Given the description of an element on the screen output the (x, y) to click on. 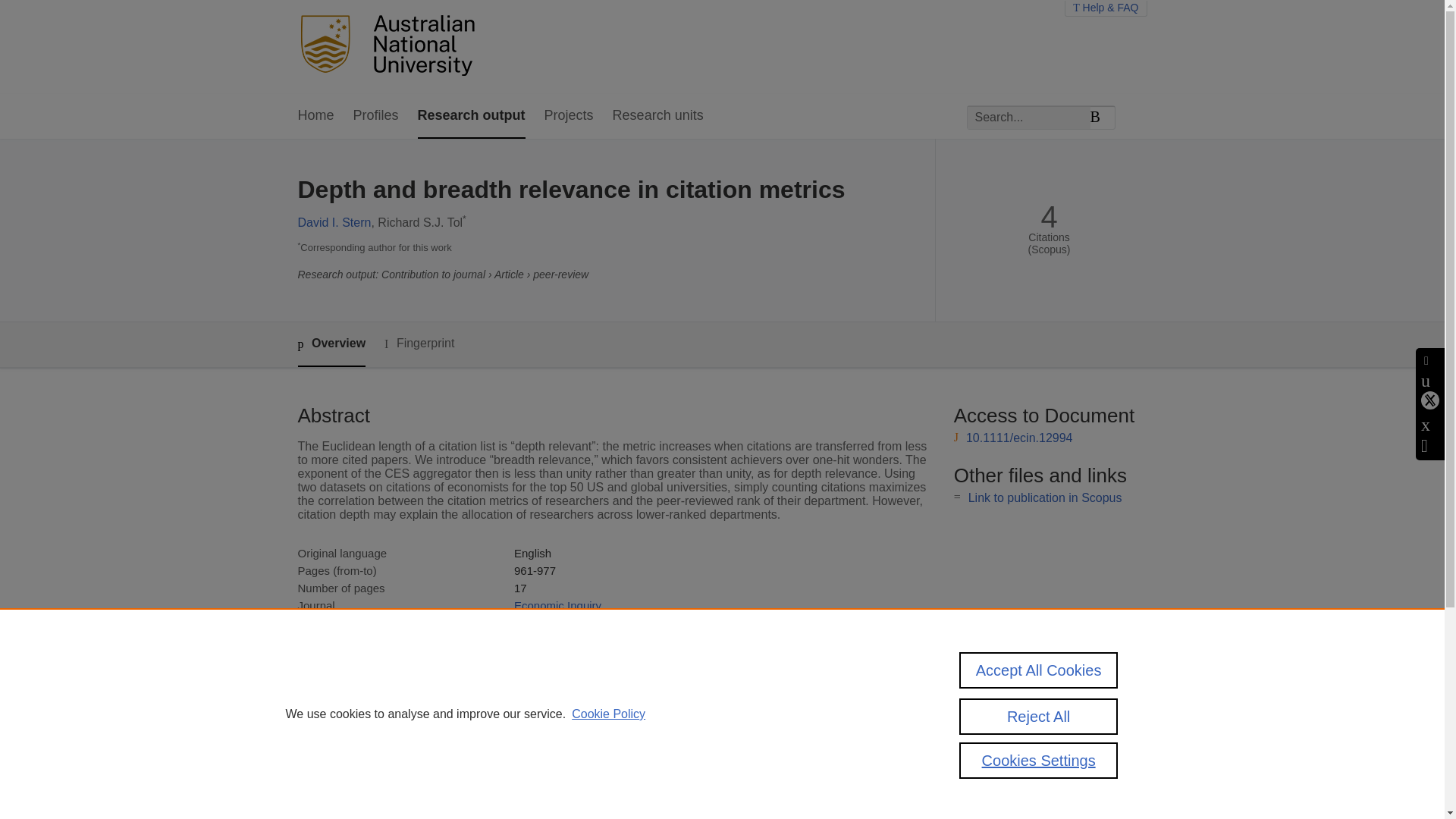
Accept All Cookies (1038, 674)
Economic Inquiry (557, 604)
Overview (331, 344)
Cookies Settings (1038, 766)
Projects (569, 116)
David I. Stern (334, 222)
Research output (471, 116)
Research units (657, 116)
Cookie Policy (608, 720)
Fingerprint (419, 343)
The Australian National University Home (391, 46)
Profiles (375, 116)
Reject All (1038, 721)
Link to publication in Scopus (1045, 497)
